Given the description of an element on the screen output the (x, y) to click on. 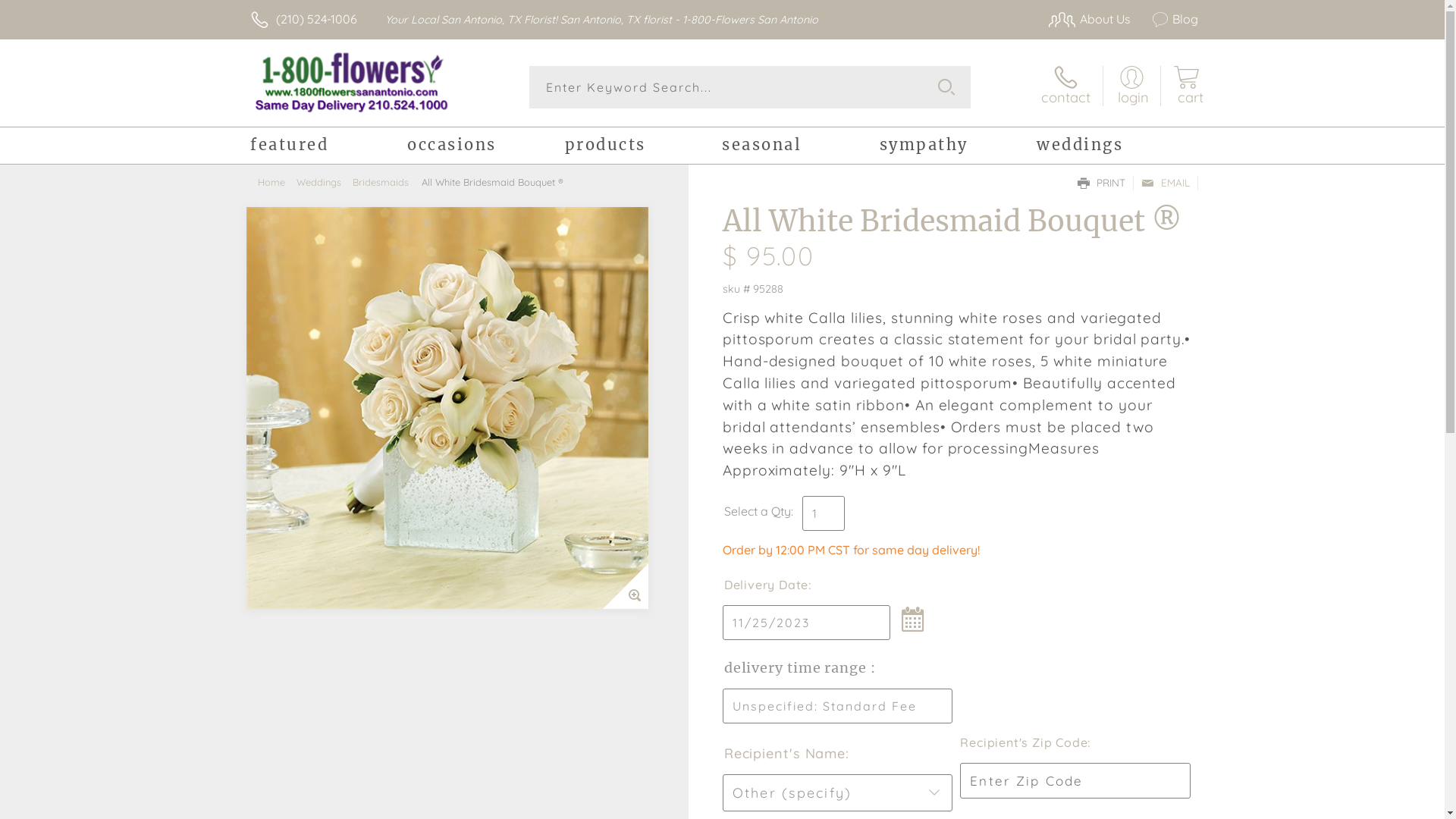
Weddings Element type: text (324, 181)
Blog Element type: text (1165, 18)
(210) 524-1006 Element type: text (316, 18)
weddings Element type: text (1114, 147)
cart Element type: text (1186, 85)
sympathy Element type: text (957, 147)
PRINT Element type: text (1101, 182)
contact Element type: text (1065, 85)
EMAIL Element type: text (1165, 182)
featured Element type: text (328, 147)
About Us Element type: text (1081, 18)
Bridesmaids Element type: text (386, 181)
occasions Element type: text (485, 147)
Enter Zip Code Element type: hover (1075, 780)
Home Element type: text (276, 181)
products Element type: text (642, 147)
Enter Keyword Search... Element type: hover (750, 86)
seasonal Element type: text (799, 147)
login or register
login Element type: text (1131, 85)
Click to choose a date Element type: hover (806, 622)
